Given the description of an element on the screen output the (x, y) to click on. 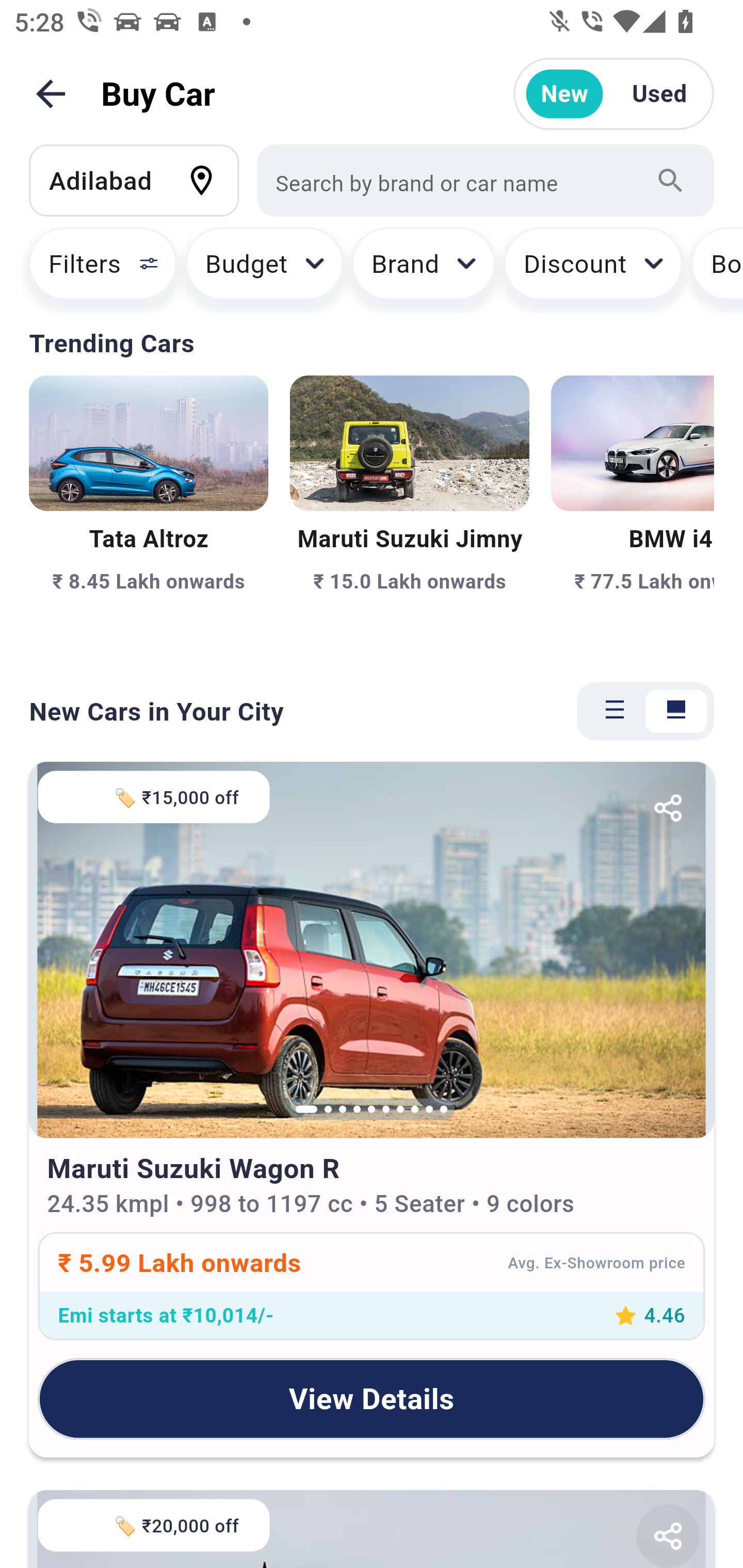
Back (50, 93)
New (564, 93)
Used (659, 93)
Adilabad (142, 180)
Filters (93, 270)
Budget (264, 270)
Brand (423, 270)
Discount (592, 270)
₹ 8.45 Lakh onwards Tata Altroz (148, 515)
₹ 15.0 Lakh onwards Maruti Suzuki Jimny (409, 515)
₹ 77.5 Lakh onwards BMW i4 (632, 515)
Tab 1 of 2 (614, 710)
Tab 2 of 2 (675, 710)
View Details (371, 1398)
